Given the description of an element on the screen output the (x, y) to click on. 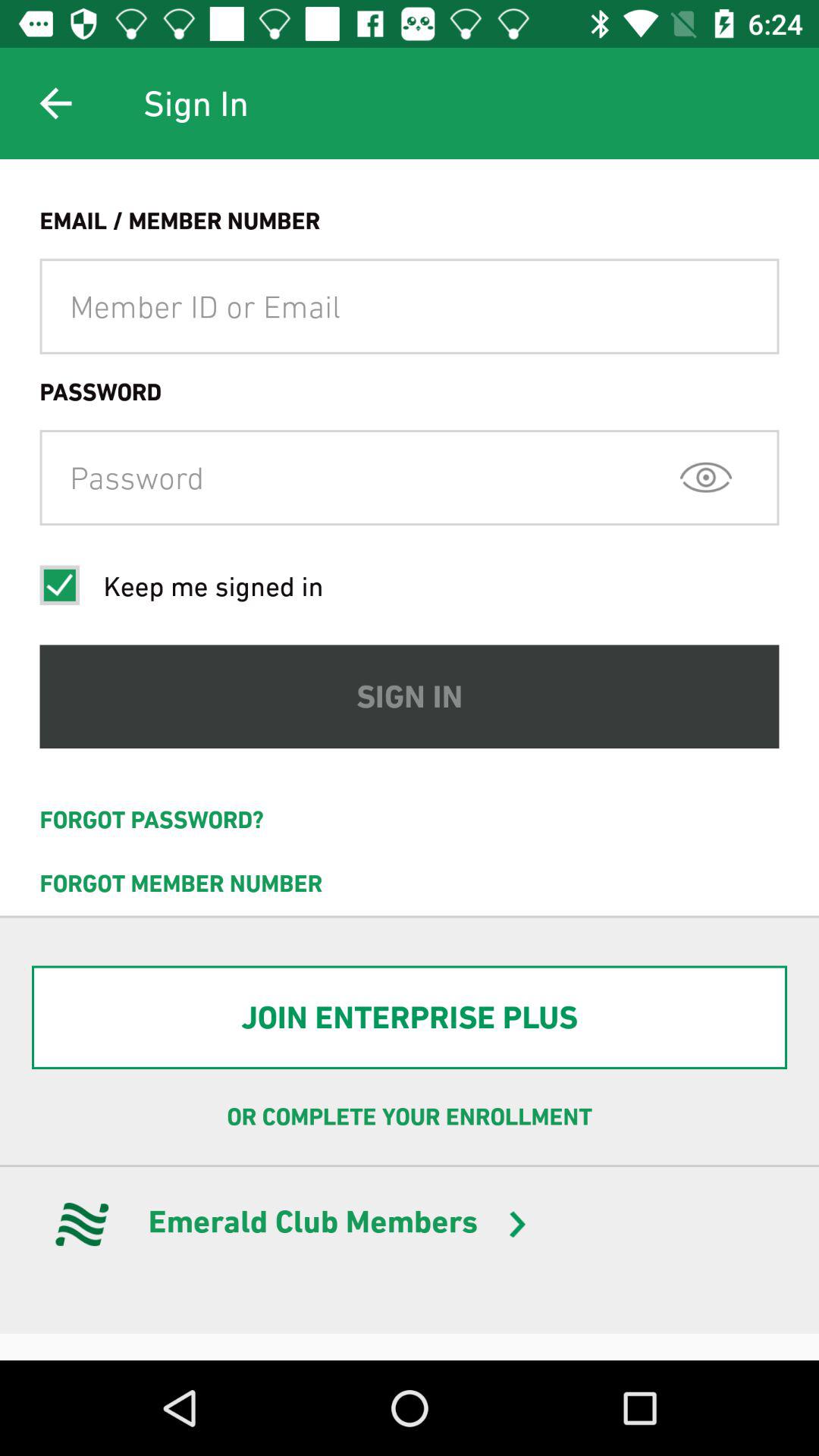
choose icon at the top right corner (705, 477)
